Given the description of an element on the screen output the (x, y) to click on. 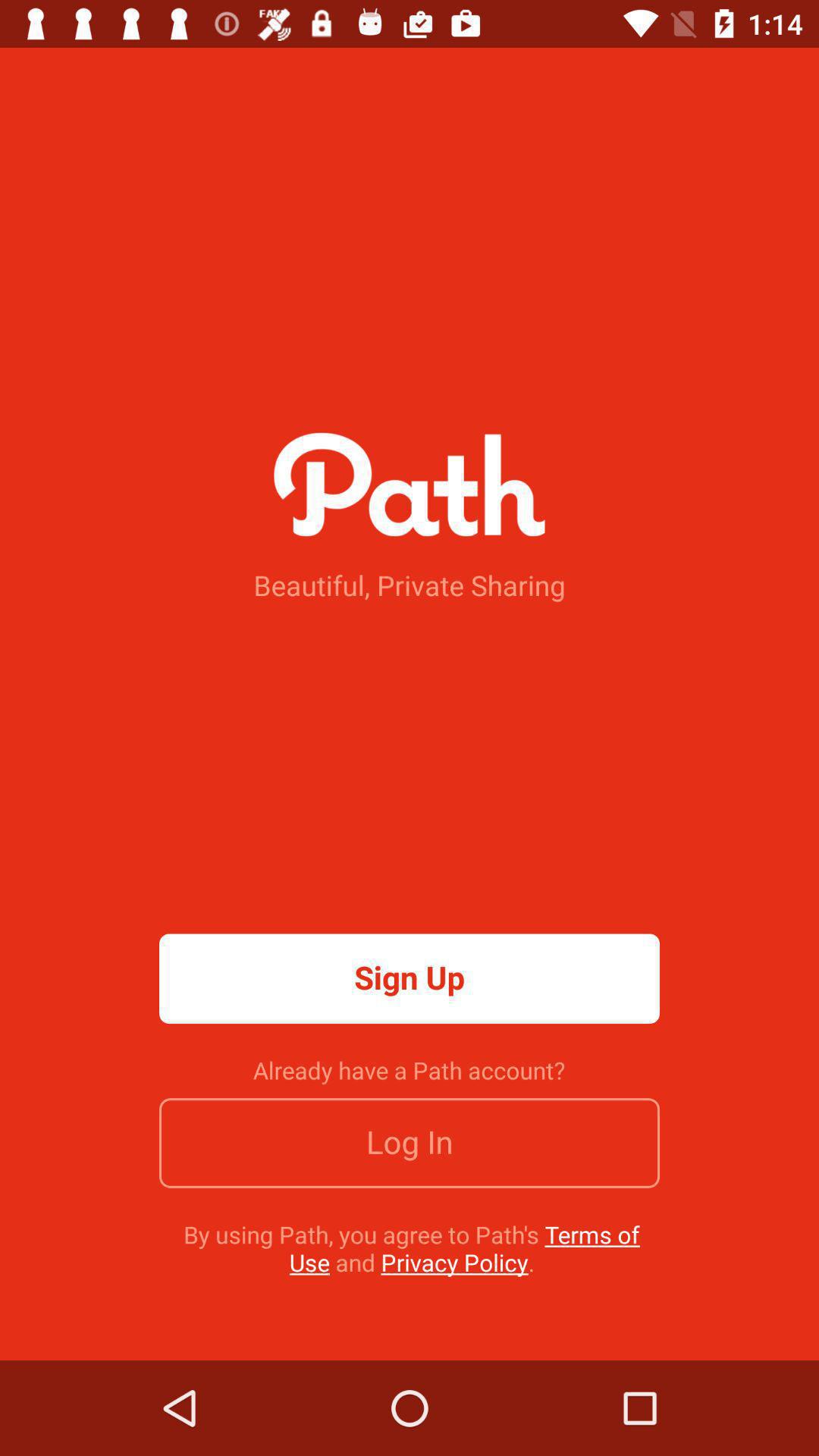
launch log in item (409, 1143)
